Given the description of an element on the screen output the (x, y) to click on. 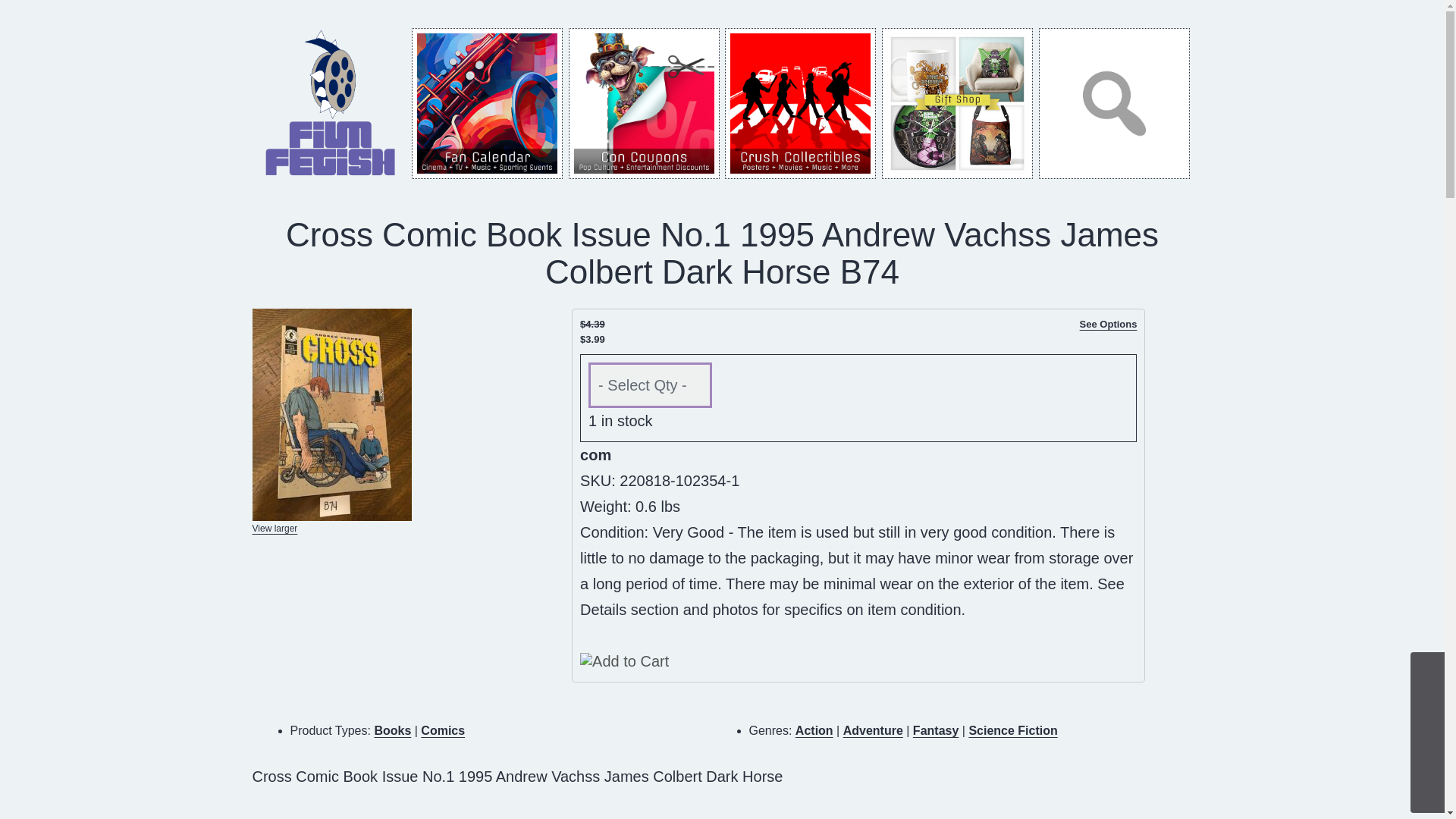
Adventure (872, 730)
Film Fetish Official Shop (957, 103)
Home (330, 102)
Science Fiction (1012, 730)
Fan Calendar (487, 103)
Crush Collectibles (800, 103)
Film Fetish Home (330, 103)
Search (1114, 103)
Fantasy (935, 730)
